Given the description of an element on the screen output the (x, y) to click on. 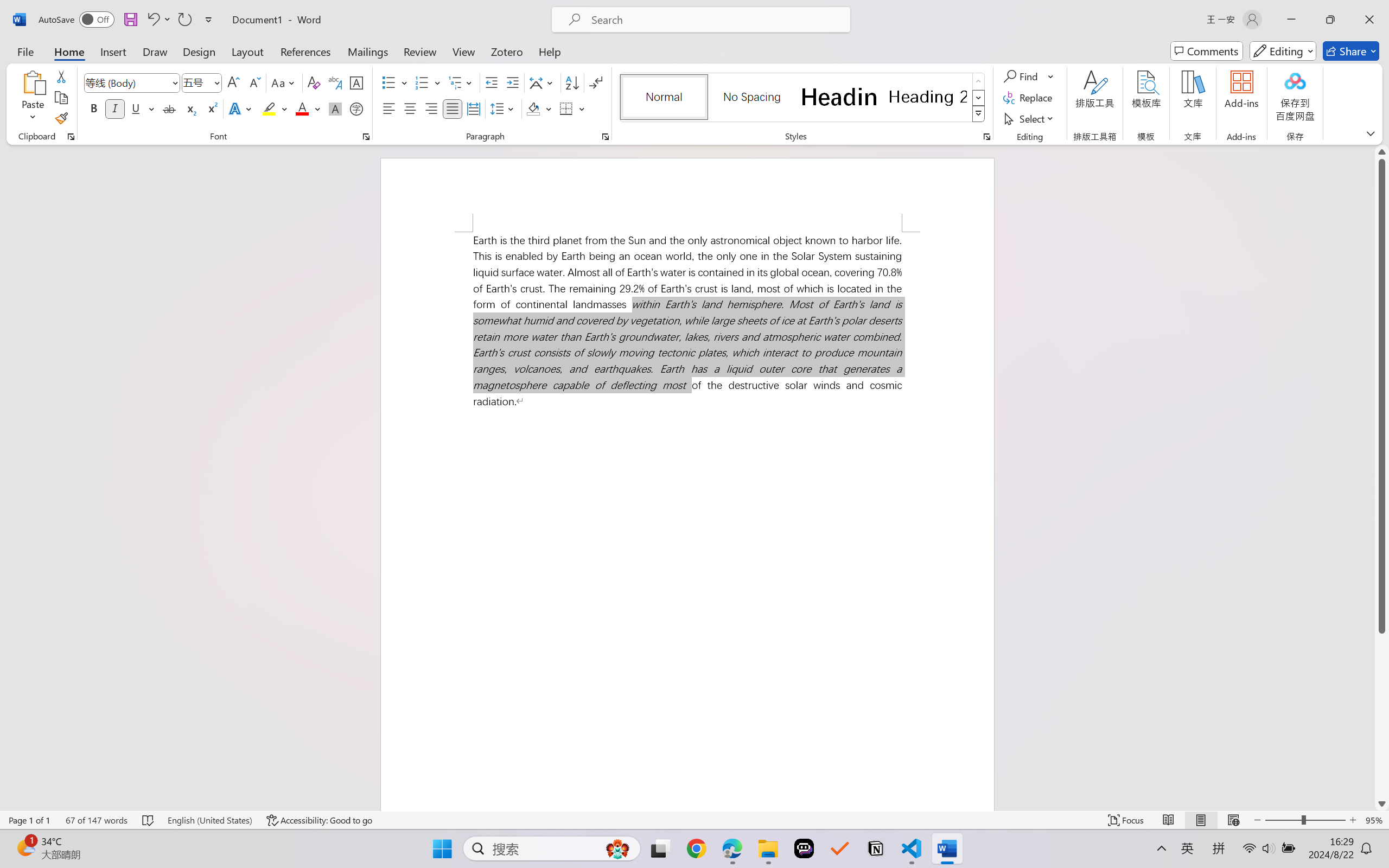
Show/Hide Editing Marks (595, 82)
Row Down (978, 97)
Class: NetUIScrollBar (1382, 477)
Replace... (1029, 97)
Undo Italic (152, 19)
